Given the description of an element on the screen output the (x, y) to click on. 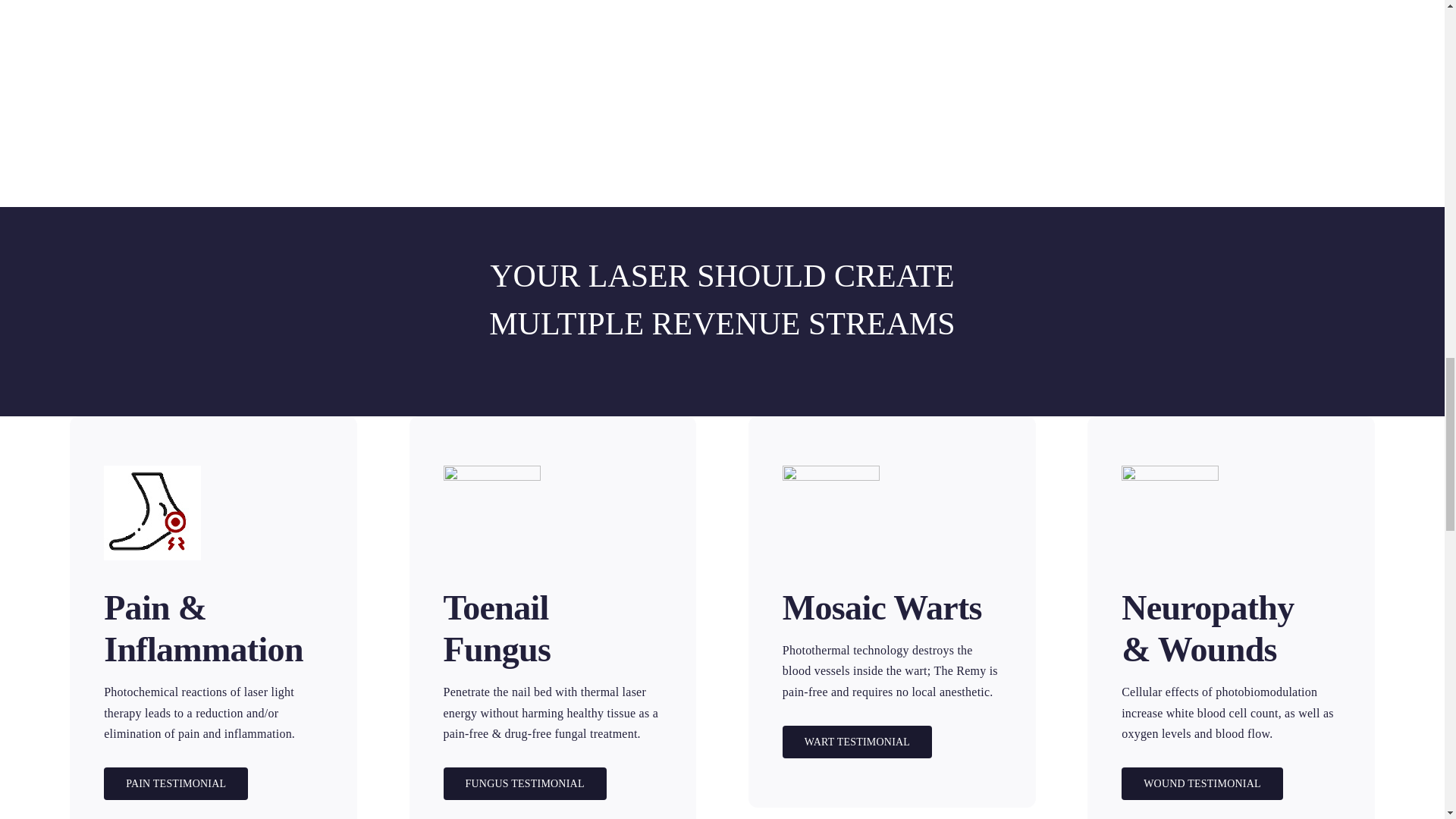
FUNGUS TESTIMONIAL (523, 783)
WART TESTIMONIAL (857, 740)
PAIN TESTIMONIAL (175, 783)
WOUND TESTIMONIAL (1201, 783)
YouTube video player 3 (749, 71)
